Given the description of an element on the screen output the (x, y) to click on. 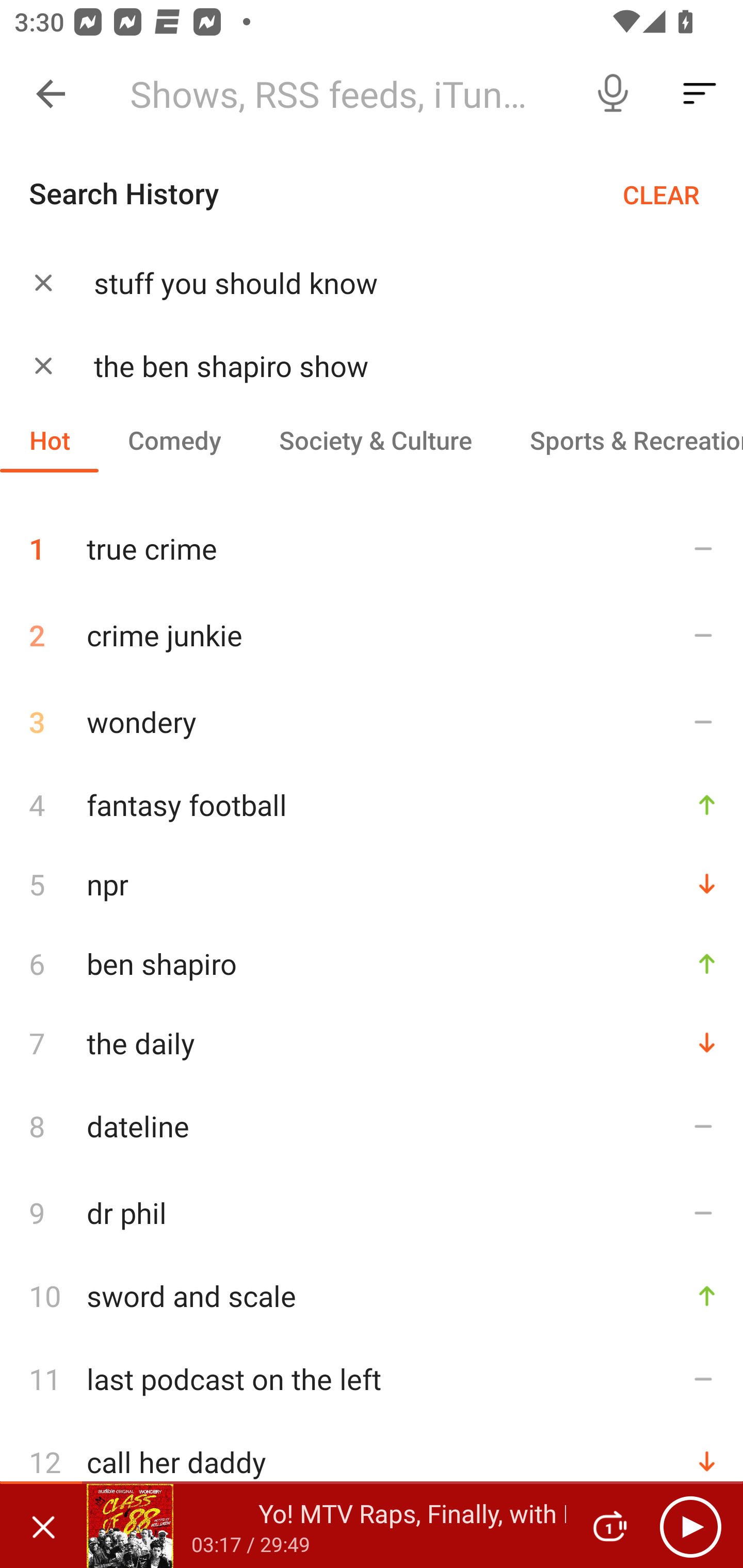
Collapse (50, 93)
Voice Search (612, 93)
Sort By (699, 93)
Shows, RSS feeds, iTunes links (342, 94)
CLEAR (660, 194)
stuff you should know (393, 282)
 Clear (43, 282)
the ben shapiro show (393, 365)
 Clear (43, 365)
Hot (49, 439)
Comedy (173, 439)
Society & Culture (374, 439)
Sports & Recreation (621, 439)
1 true crime (371, 540)
2 crime junkie (371, 634)
3 wondery (371, 721)
4 fantasy football (371, 804)
5 npr (371, 883)
6 ben shapiro (371, 963)
7 the daily (371, 1042)
8 dateline (371, 1125)
9 dr phil (371, 1212)
10 sword and scale (371, 1295)
11 last podcast on the left (371, 1378)
12 call her daddy (371, 1462)
Play (690, 1526)
